Given the description of an element on the screen output the (x, y) to click on. 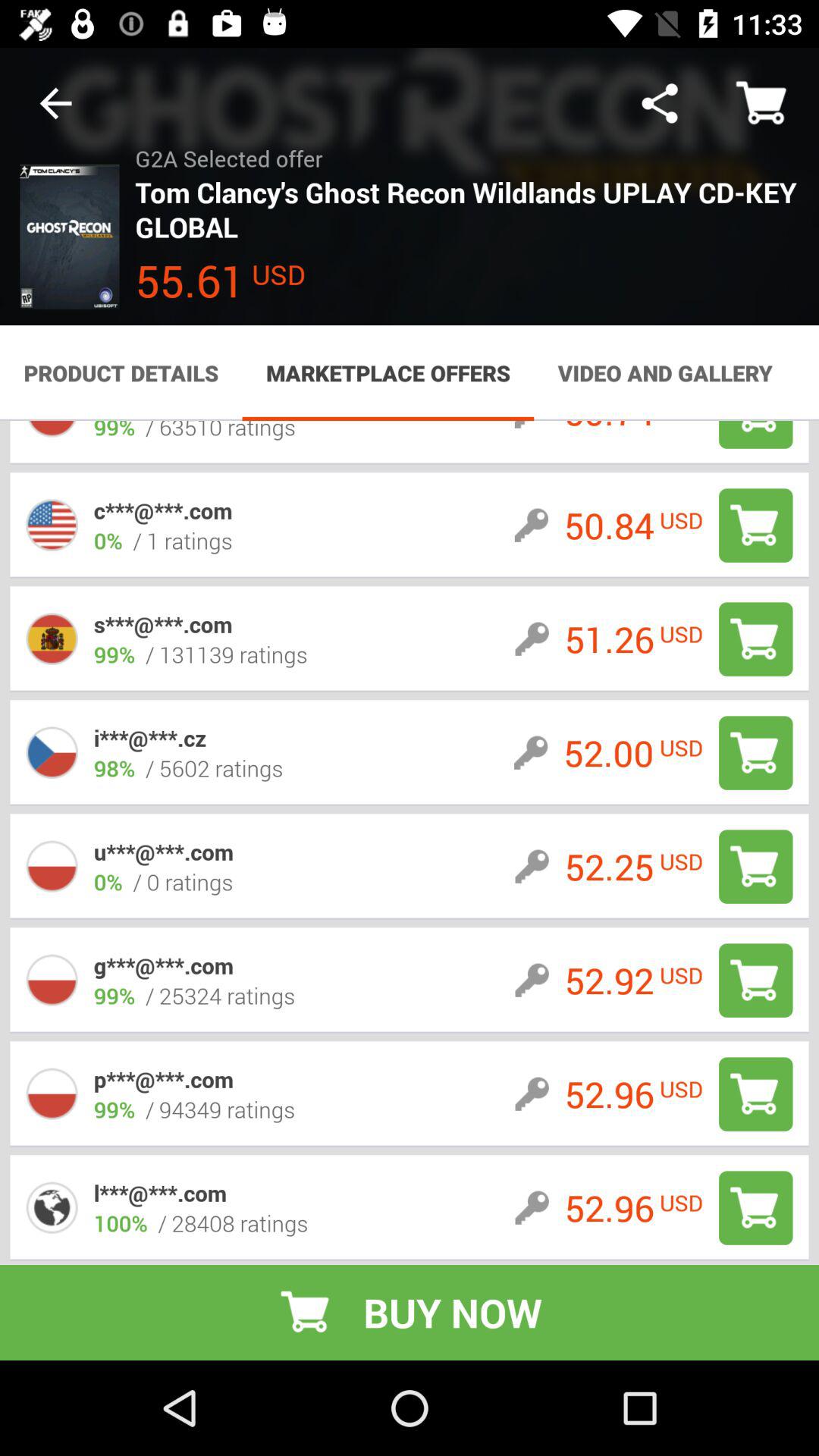
go to buy now option (755, 1207)
